Given the description of an element on the screen output the (x, y) to click on. 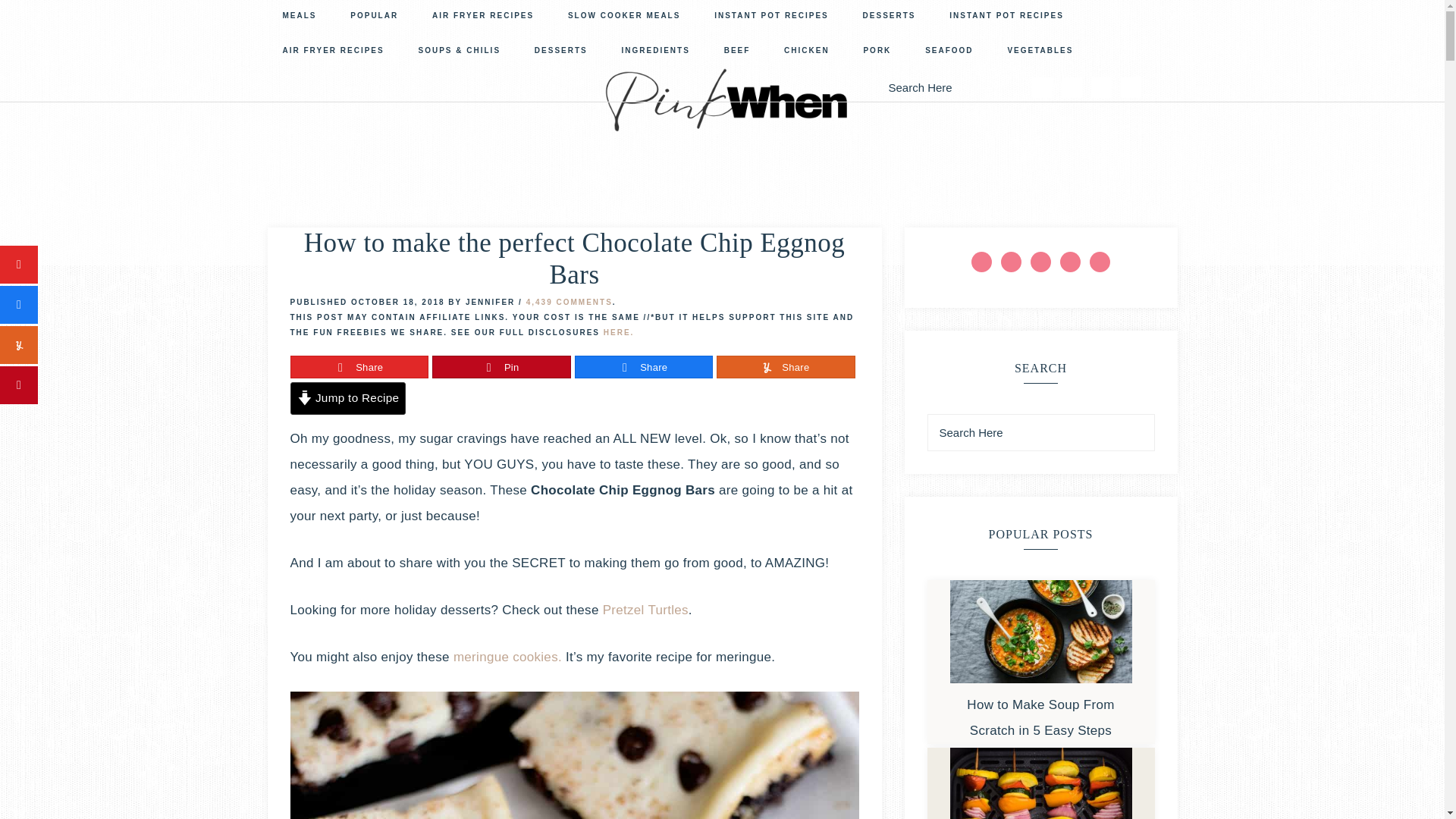
PORK (876, 52)
INSTANT POT RECIPES (771, 17)
INGREDIENTS (655, 52)
AIR FRYER RECIPES (482, 17)
INSTANT POT RECIPES (1006, 17)
How to make the perfect Chocolate Chip Eggnog Bars 16 (574, 755)
MEALS (298, 17)
POPULAR (373, 17)
How to Make Soup From Scratch in 5 Easy Steps 23 (1040, 630)
BEEF (737, 52)
CHICKEN (806, 52)
